Given the description of an element on the screen output the (x, y) to click on. 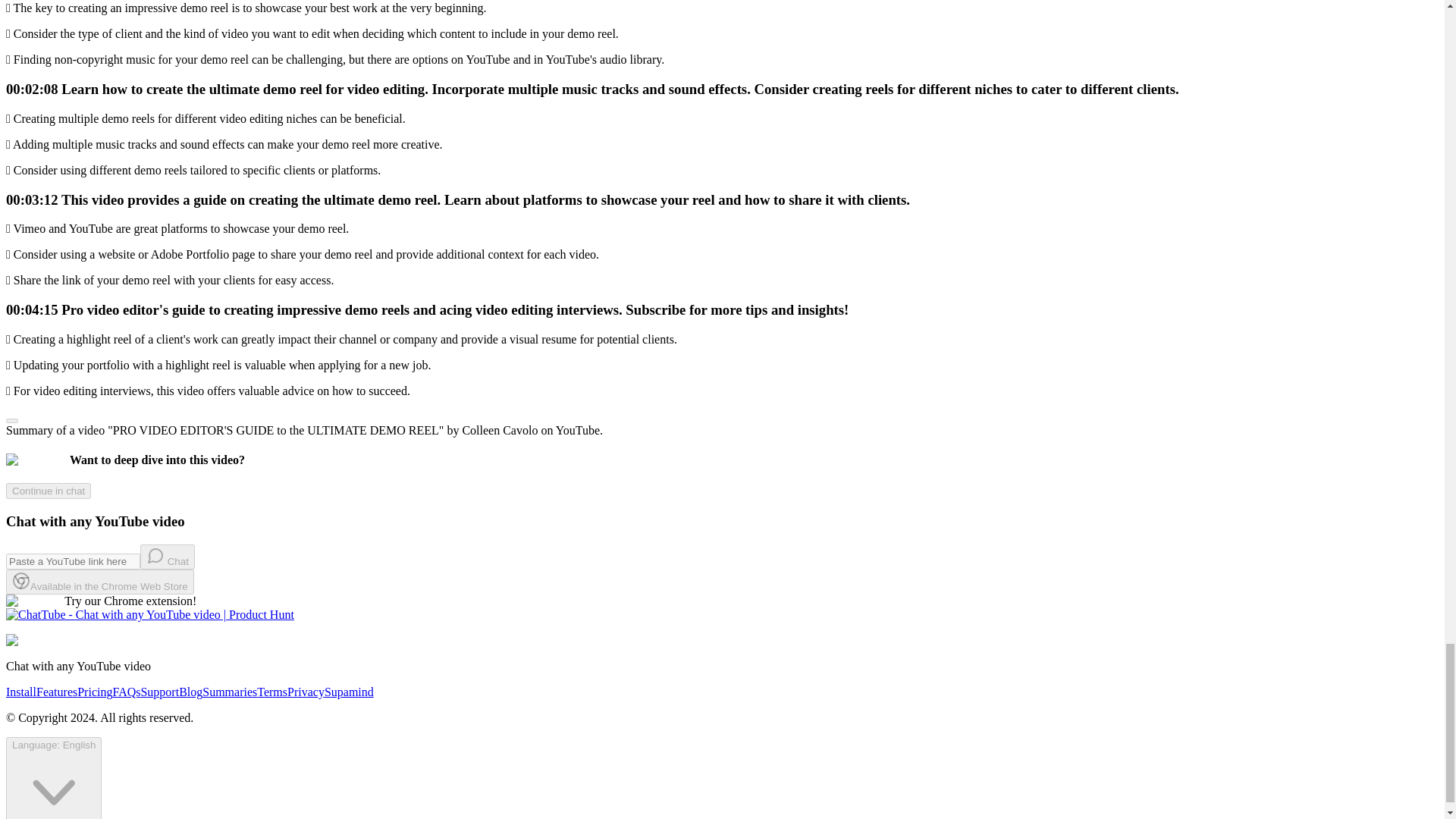
Continue in chat (47, 490)
Privacy (305, 691)
Supamind (349, 691)
Summaries (229, 691)
Support (159, 691)
Install (20, 691)
Blog (190, 691)
Features (56, 691)
Chat (167, 556)
Pricing (94, 691)
